Given the description of an element on the screen output the (x, y) to click on. 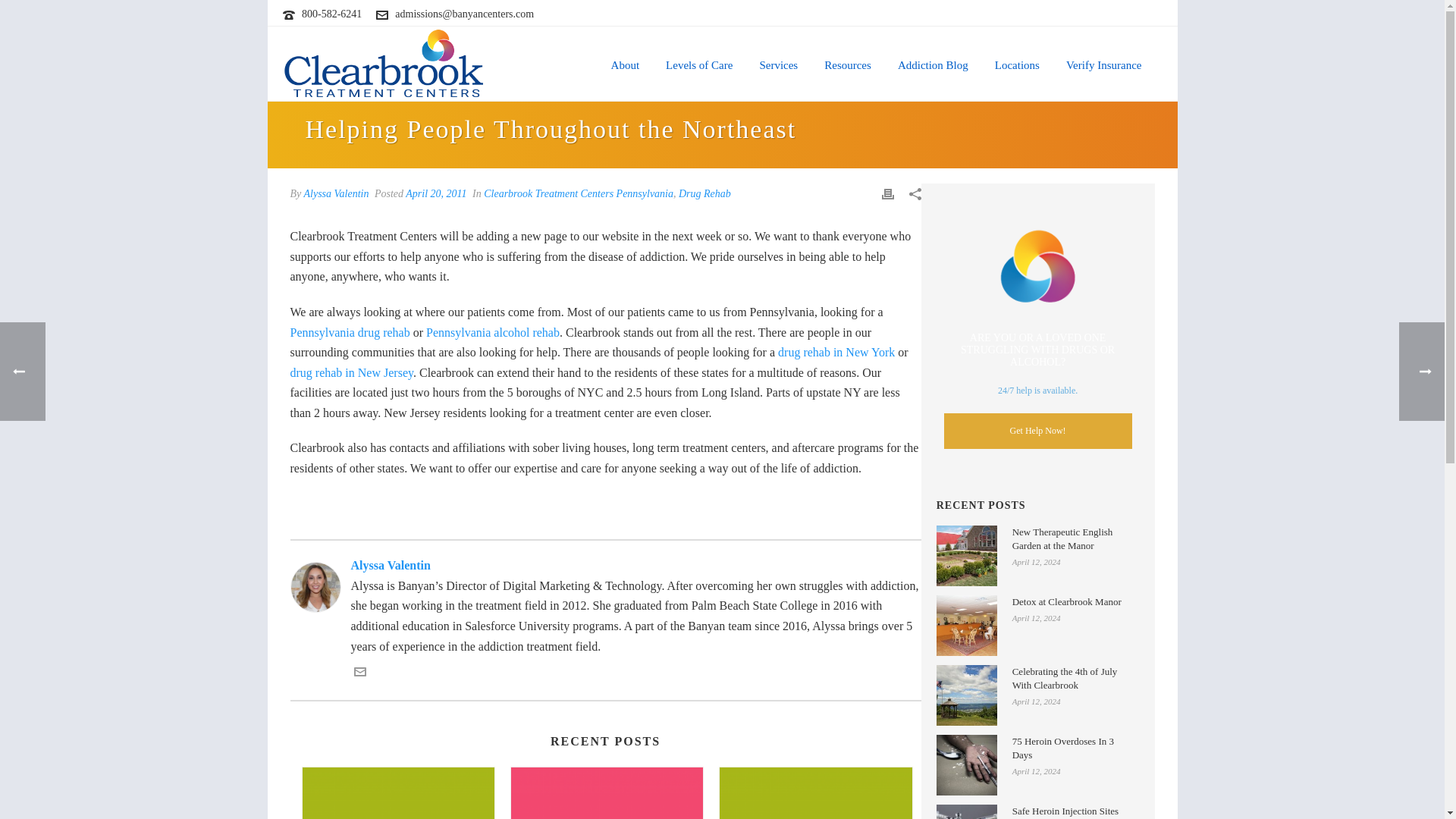
Detox at Clearbrook Manor (966, 625)
75 Heroin Overdoses In 3 Days (966, 764)
Verify Insurance (1103, 63)
Posts by Alyssa Valentin (336, 193)
Get in touch with me via email (359, 673)
New Therapeutic English Garden at the Manor (966, 555)
Safe Heroin Injection Sites Opening in Seattle (966, 811)
Resources (846, 63)
Levels of Care (698, 63)
800-582-6241 (331, 13)
Drug and Alcohol Treatment Center (383, 63)
The Importance of Detoxification for Drug Rehabilitation (607, 793)
What is Addiction Counseling? (397, 793)
Addiction Blog (933, 63)
Levels of Care (698, 63)
